Given the description of an element on the screen output the (x, y) to click on. 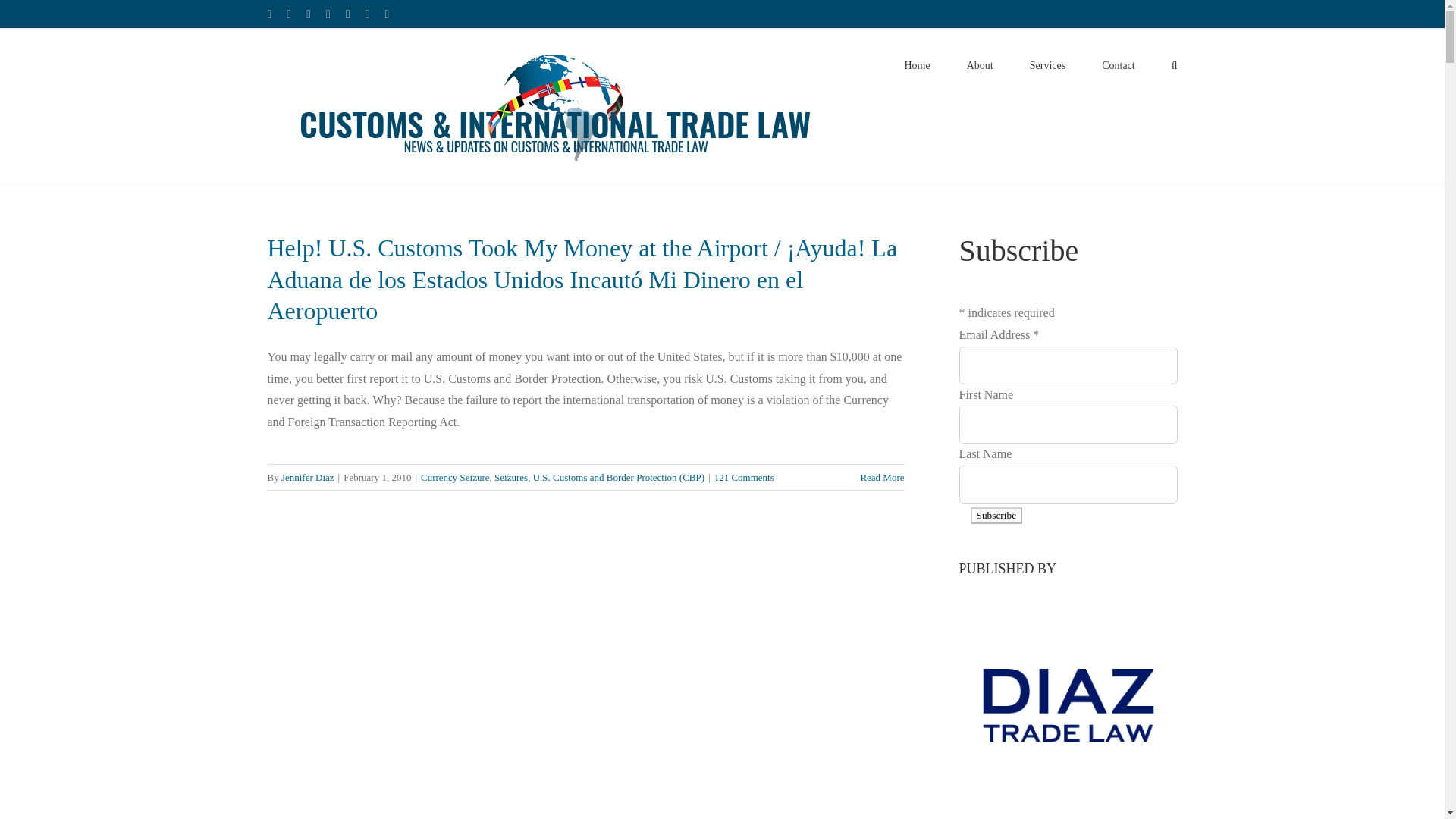
Subscribe (997, 515)
Jennifer Diaz (307, 477)
Currency Seizure (454, 477)
Posts by Jennifer Diaz (307, 477)
121 Comments (744, 477)
Subscribe (997, 515)
Seizures (511, 477)
Read More (882, 477)
